Given the description of an element on the screen output the (x, y) to click on. 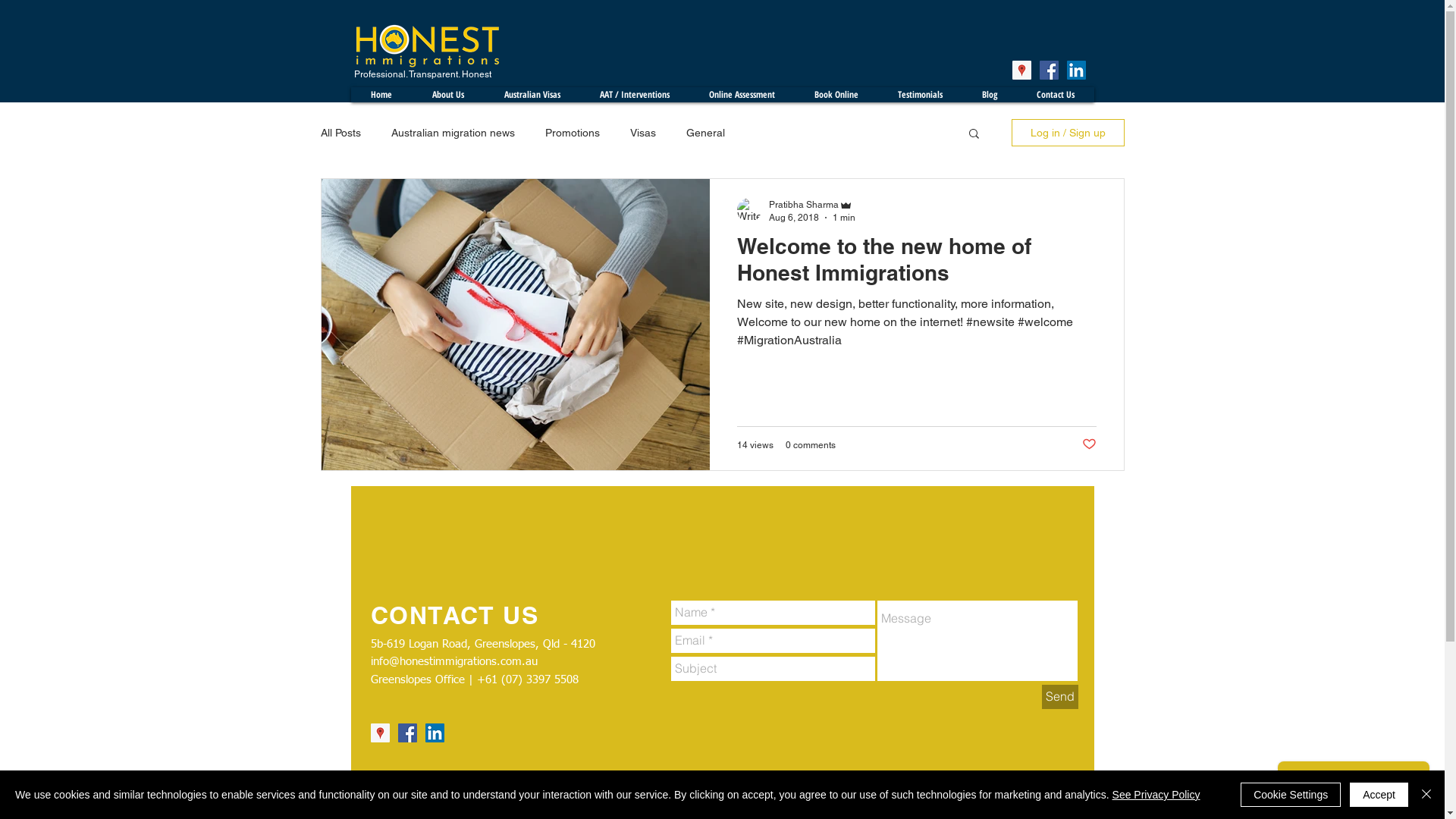
Book Online Element type: text (836, 94)
Cookie Settings Element type: text (1290, 794)
Home Element type: text (380, 94)
All Posts Element type: text (340, 132)
Accept Element type: text (1378, 794)
About Us Element type: text (447, 94)
AAT / Interventions Element type: text (633, 94)
General Element type: text (704, 132)
Log in / Sign up Element type: text (1067, 132)
Honest Immigrations Element type: hover (426, 46)
Visas Element type: text (642, 132)
Australian Visas Element type: text (531, 94)
Cookie Alert Element type: hover (1061, 30)
Blog Element type: text (988, 94)
Australian migration news Element type: text (452, 132)
Online Assessment Element type: text (740, 94)
Contact Us Element type: text (1054, 94)
Promotions Element type: text (571, 132)
Welcome to the new home of Honest Immigrations Element type: text (916, 263)
Send Element type: text (1059, 696)
Testimonials Element type: text (920, 94)
3397 5508 Element type: text (552, 679)
Post not marked as liked Element type: text (1088, 444)
See Privacy Policy Element type: text (1156, 794)
0 comments Element type: text (810, 444)
info@honestimmigrations.com.au Element type: text (453, 661)
